Given the description of an element on the screen output the (x, y) to click on. 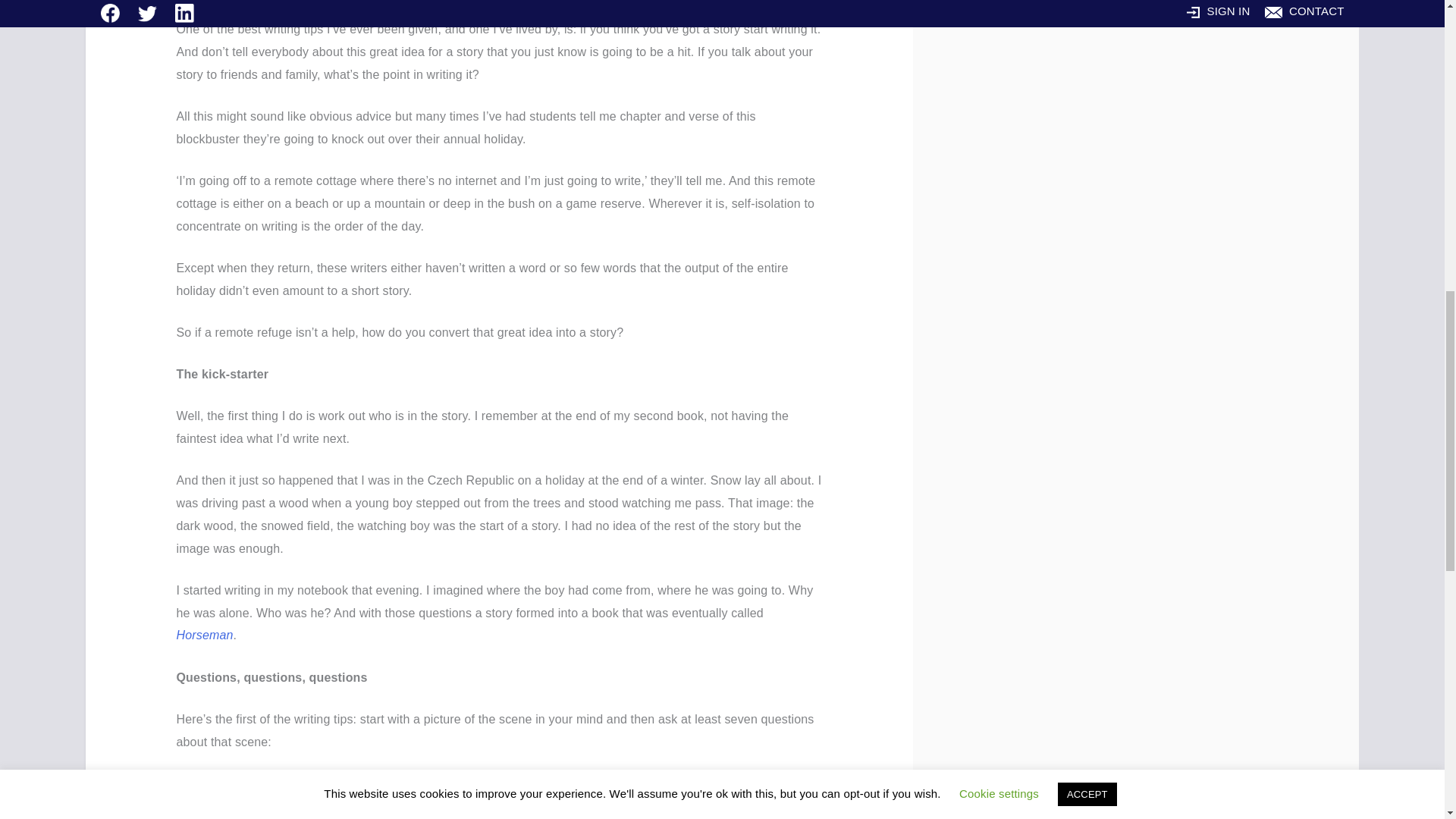
Horseman (204, 634)
